Given the description of an element on the screen output the (x, y) to click on. 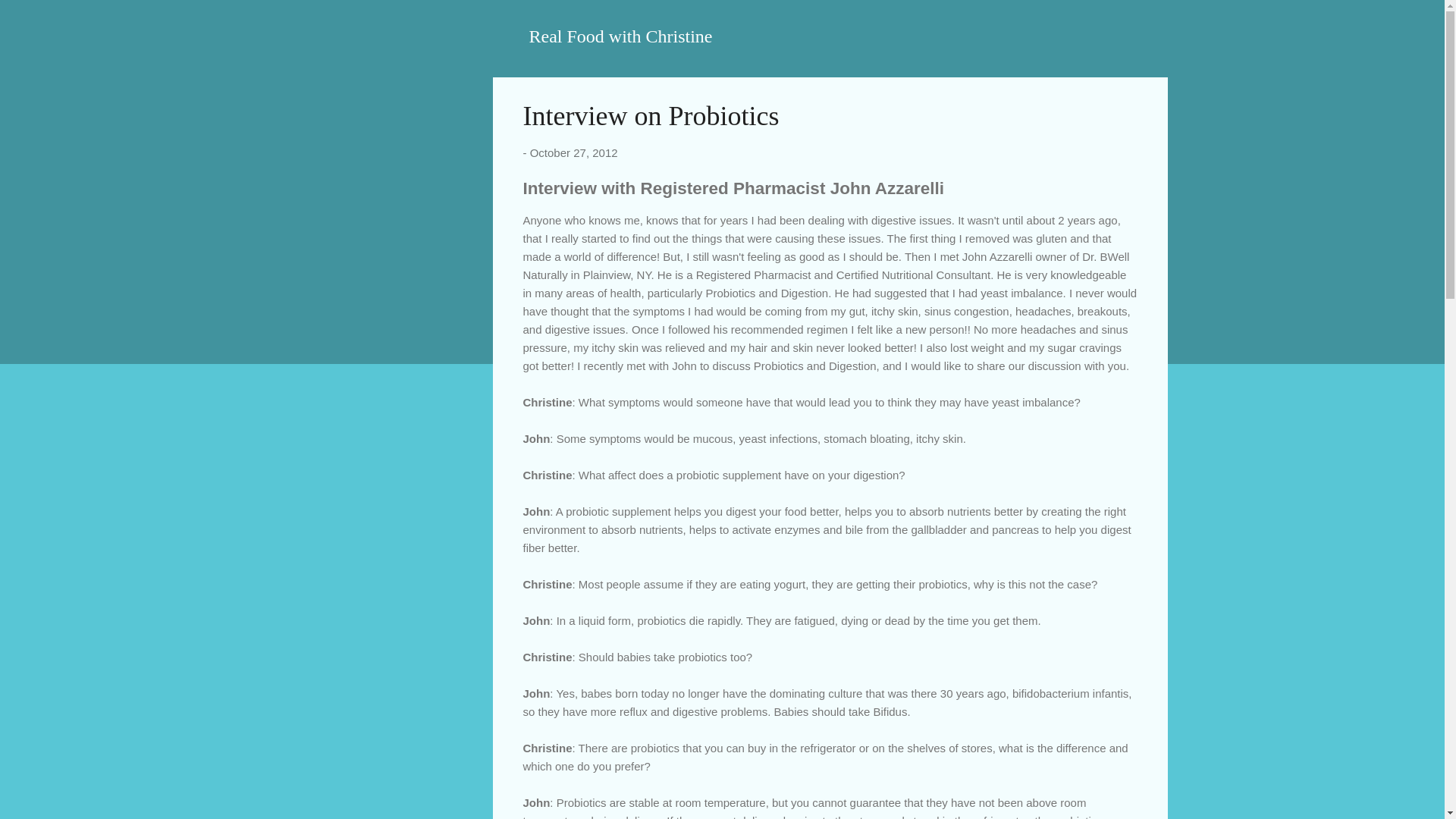
permanent link (573, 152)
Real Food with Christine (621, 35)
October 27, 2012 (573, 152)
Search (29, 18)
